Given the description of an element on the screen output the (x, y) to click on. 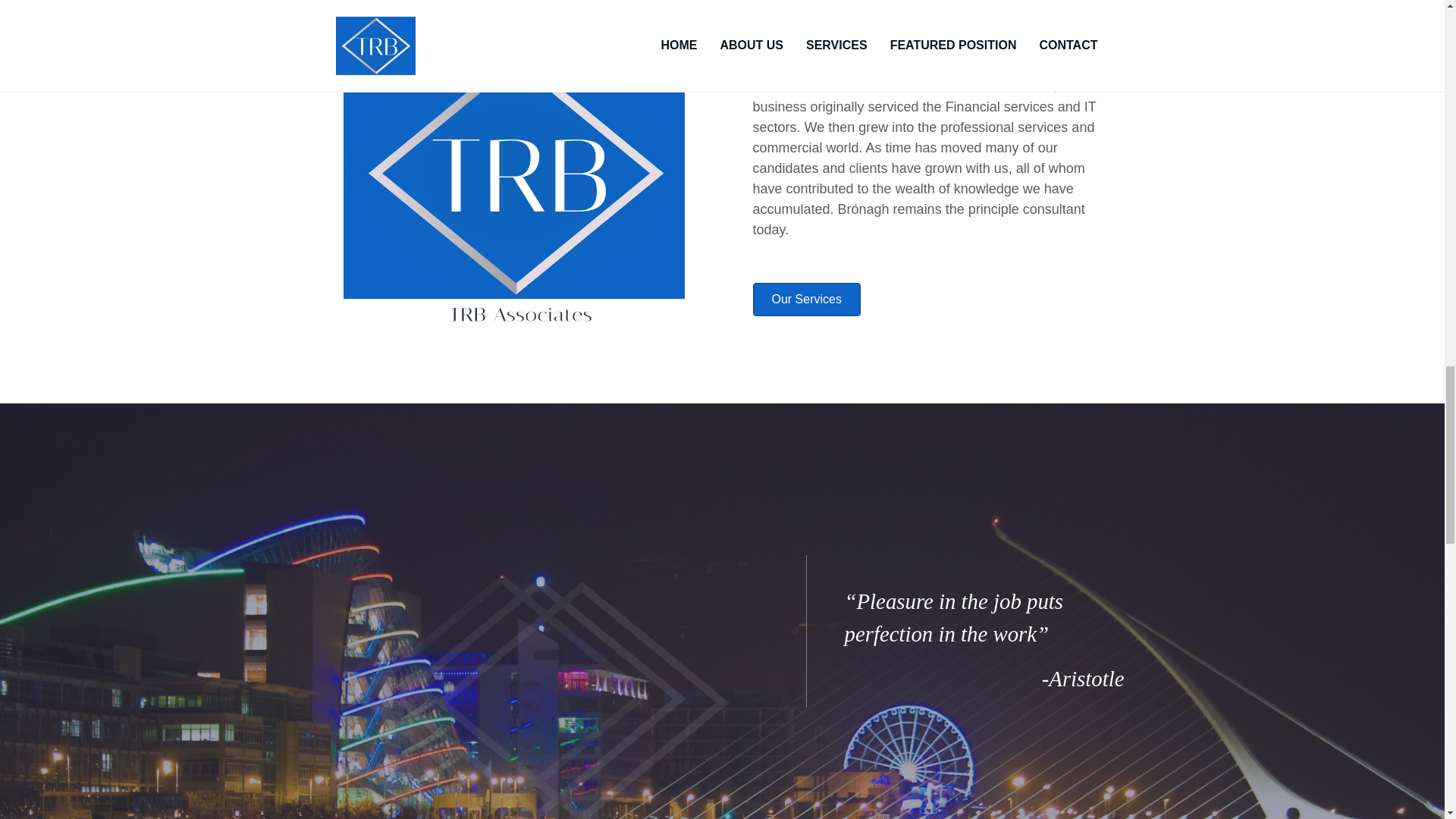
trb3 (543, 694)
Our Services (806, 299)
